Given the description of an element on the screen output the (x, y) to click on. 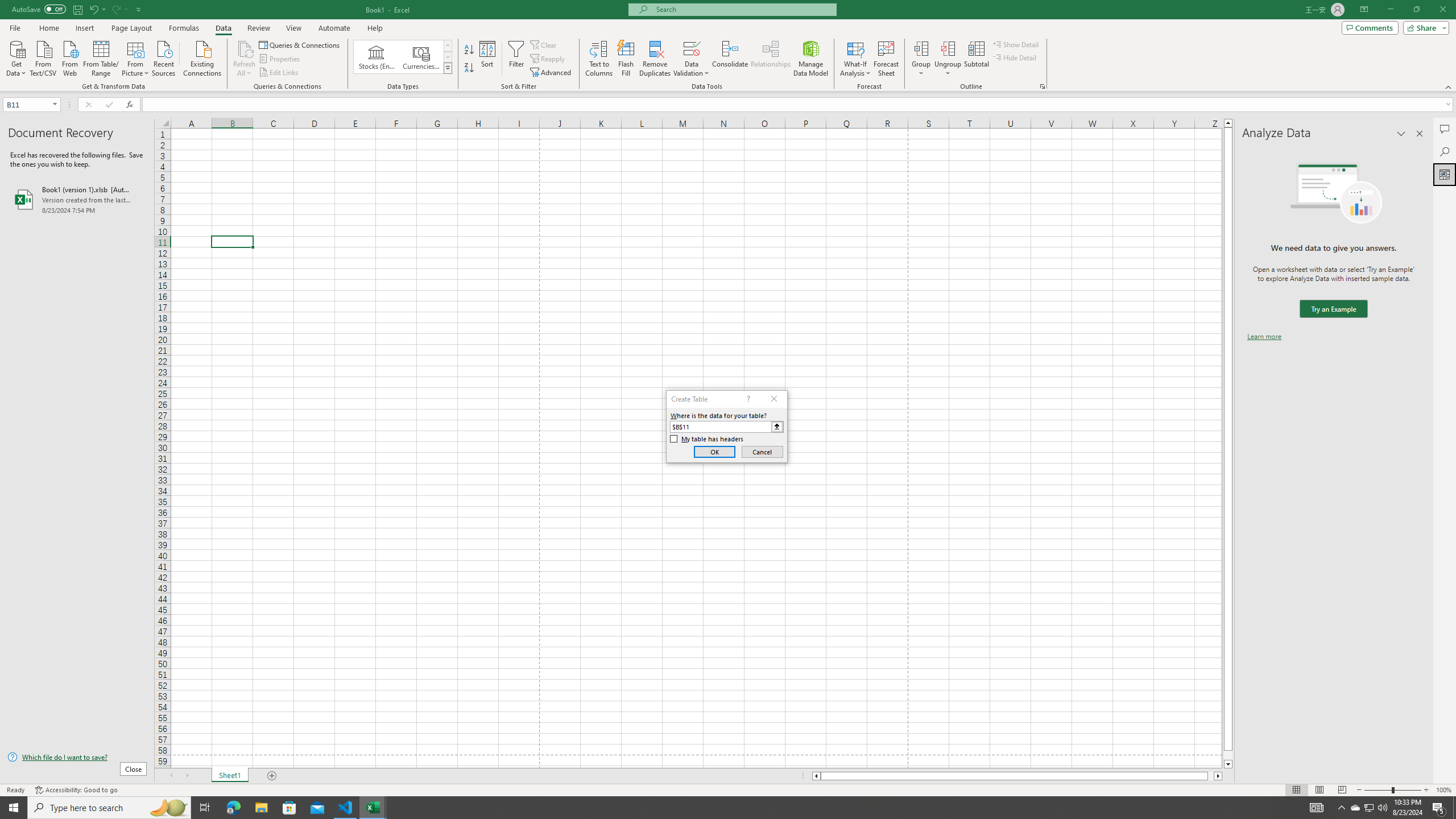
Flash Fill (625, 58)
Reapply (548, 58)
From Table/Range (100, 57)
Class: MsoCommandBar (728, 45)
We need data to give you answers. Try an Example (1333, 308)
Recent Sources (163, 57)
